Given the description of an element on the screen output the (x, y) to click on. 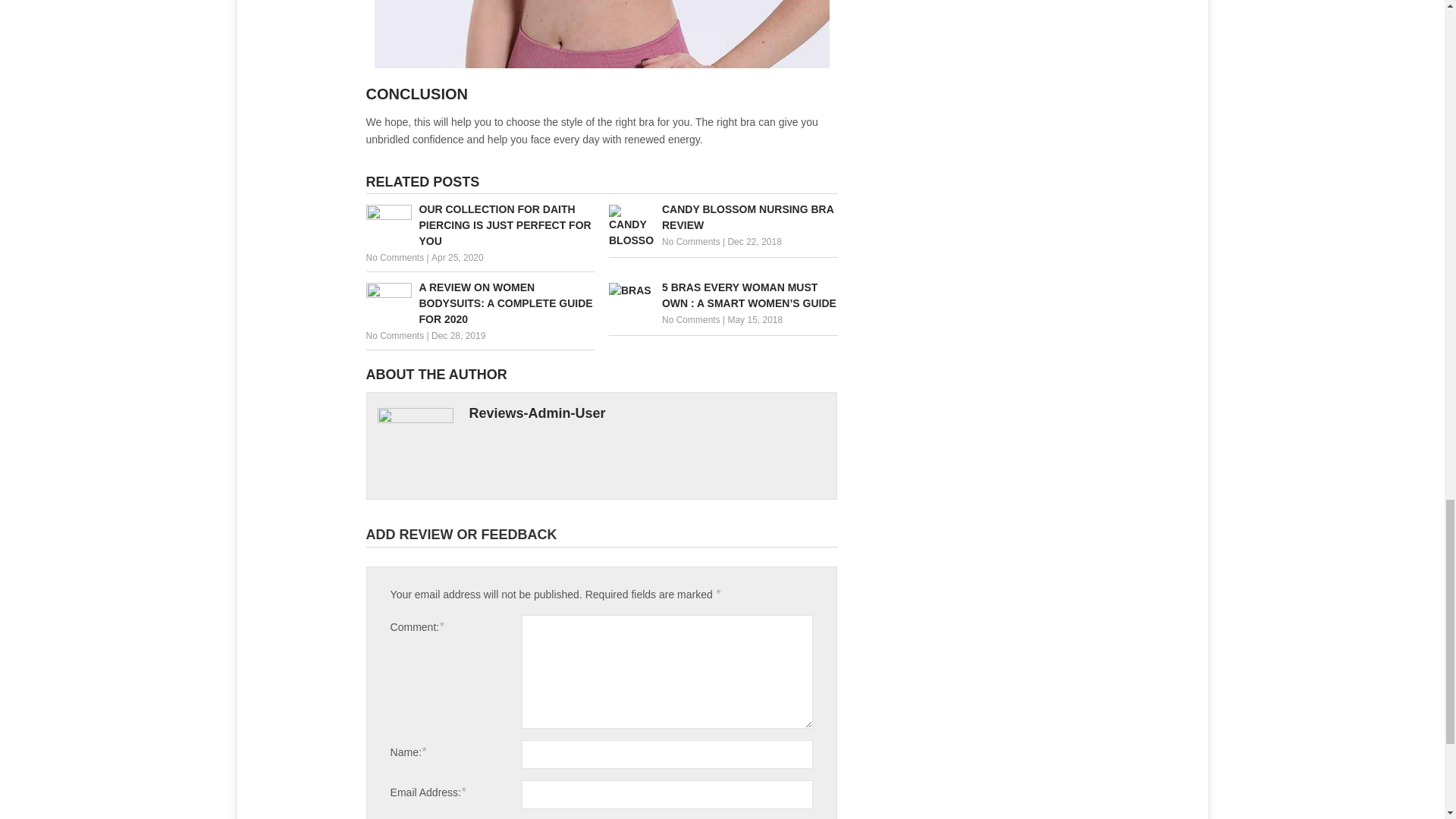
No Comments (394, 335)
Candy Blossom Nursing Bra Review (723, 217)
A Review on Women Bodysuits: A Complete Guide for 2020 (479, 303)
Our Collection For Daith Piercing Is Just Perfect For You (479, 225)
OUR COLLECTION FOR DAITH PIERCING IS JUST PERFECT FOR YOU (479, 225)
No Comments (394, 257)
No Comments (691, 319)
No Comments (691, 241)
CANDY BLOSSOM NURSING BRA REVIEW (723, 217)
A REVIEW ON WOMEN BODYSUITS: A COMPLETE GUIDE FOR 2020 (479, 303)
